Given the description of an element on the screen output the (x, y) to click on. 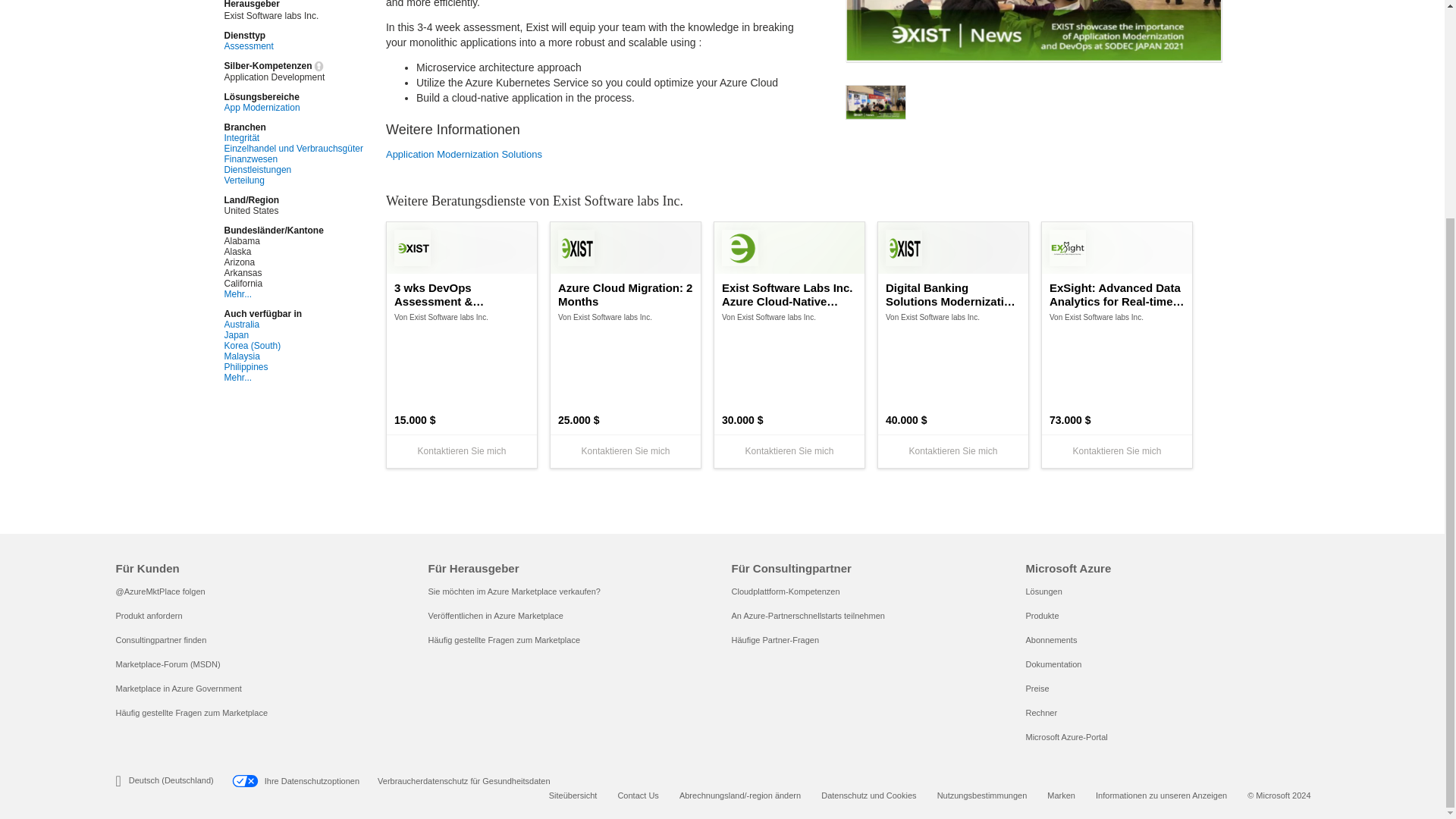
Azure Cloud Migration: 2 Months (625, 294)
Exist Software Labs Inc. Azure Cloud-Native Services (789, 294)
Digital Banking Solutions Modernization - Cloud Base (952, 294)
